Given the description of an element on the screen output the (x, y) to click on. 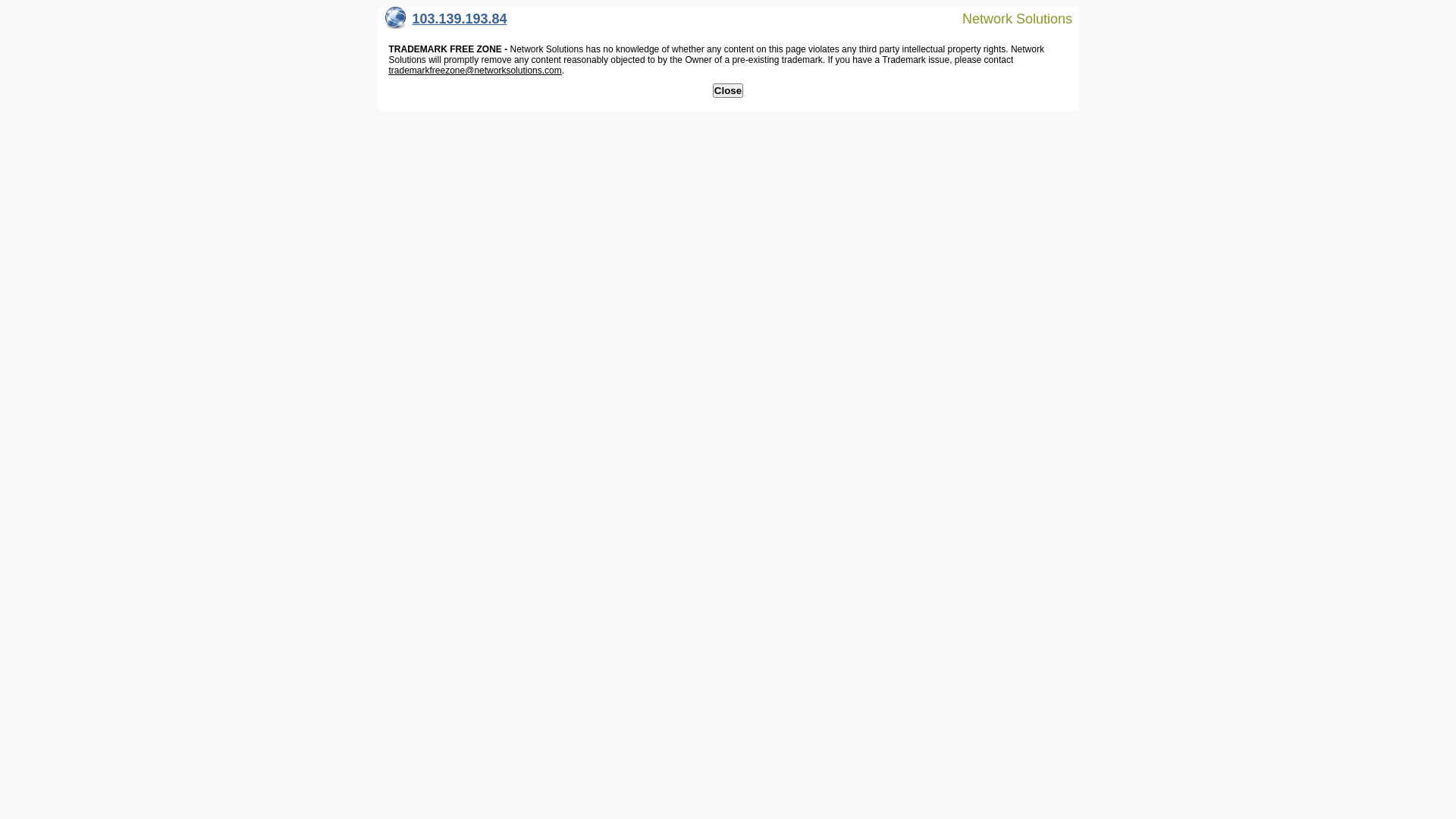
Close Element type: text (727, 90)
Network Solutions Element type: text (1007, 17)
trademarkfreezone@networksolutions.com Element type: text (474, 70)
103.139.193.84 Element type: text (446, 21)
